Given the description of an element on the screen output the (x, y) to click on. 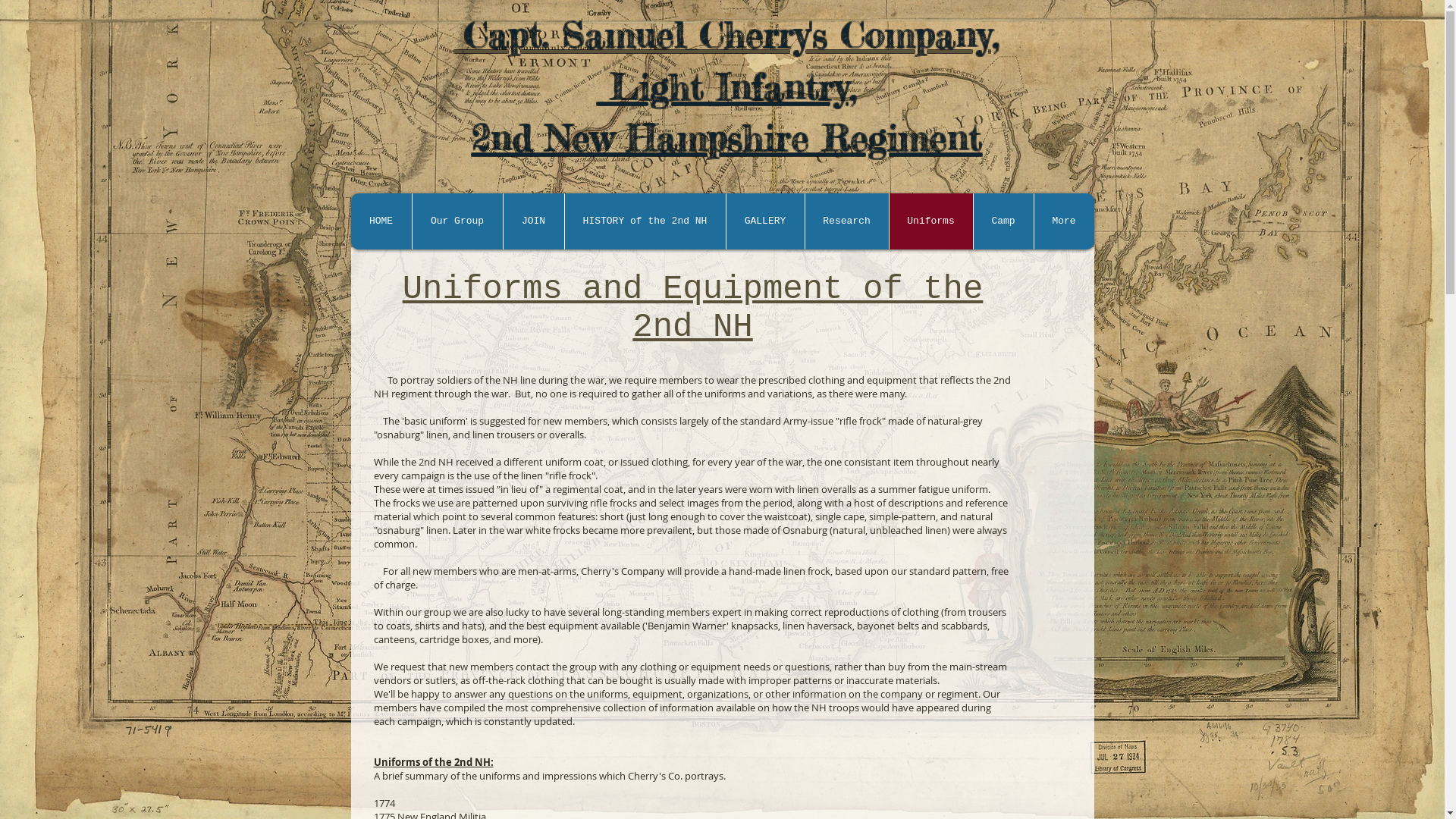
HISTORY of the 2nd NH Element type: text (644, 221)
HOME Element type: text (380, 221)
JOIN Element type: text (532, 221)
Camp Element type: text (1002, 221)
Our Group Element type: text (456, 221)
Uniforms Element type: text (930, 221)
Research Element type: text (845, 221)
GALLERY Element type: text (763, 221)
